Given the description of an element on the screen output the (x, y) to click on. 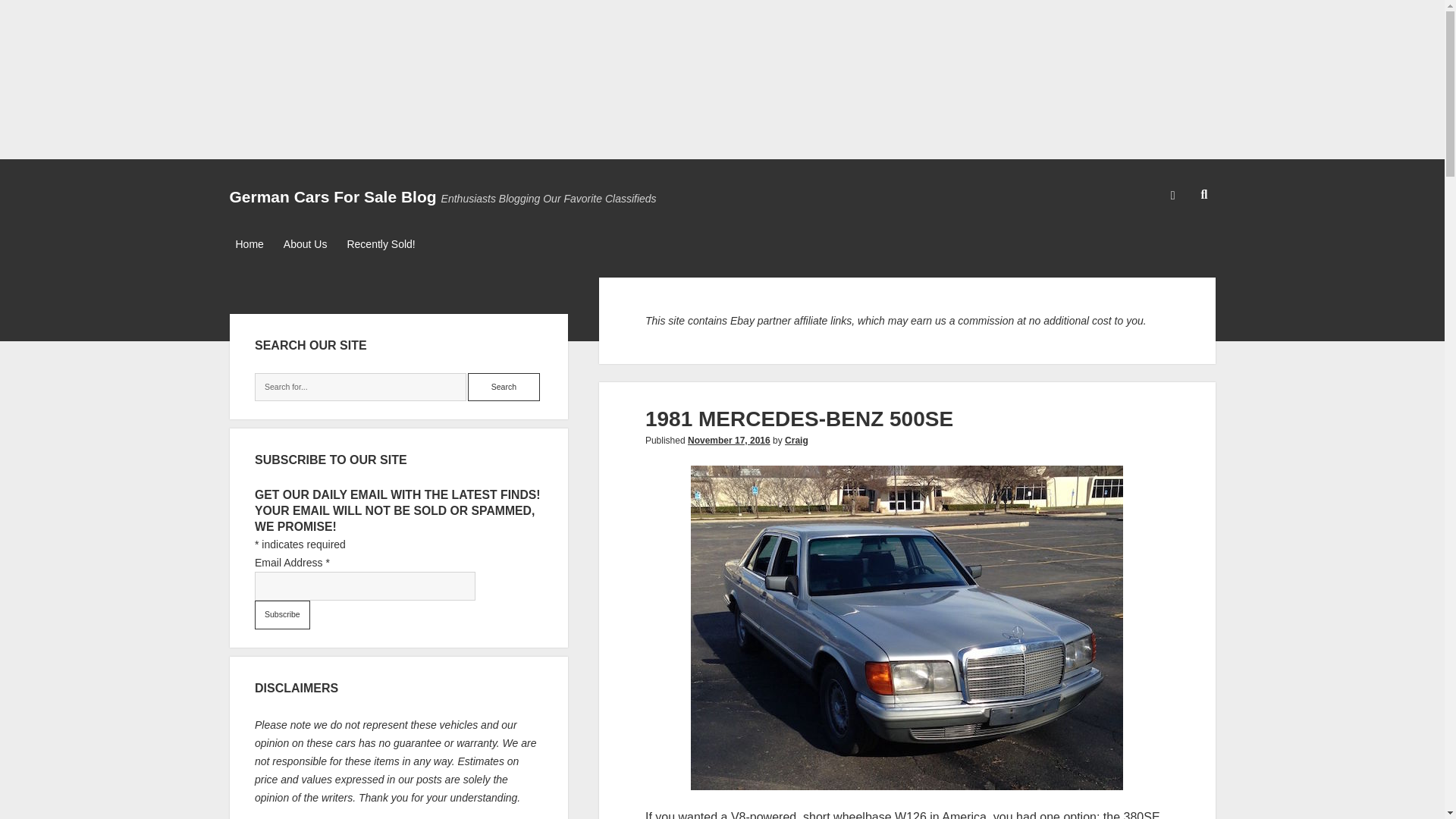
About Us (305, 244)
Subscribe (282, 614)
Craig (796, 439)
German Cars For Sale Blog (331, 196)
Recently Sold! (380, 244)
Search (503, 387)
Subscribe (282, 614)
November 17, 2016 (728, 439)
Home (248, 244)
Search for: (359, 387)
